Given the description of an element on the screen output the (x, y) to click on. 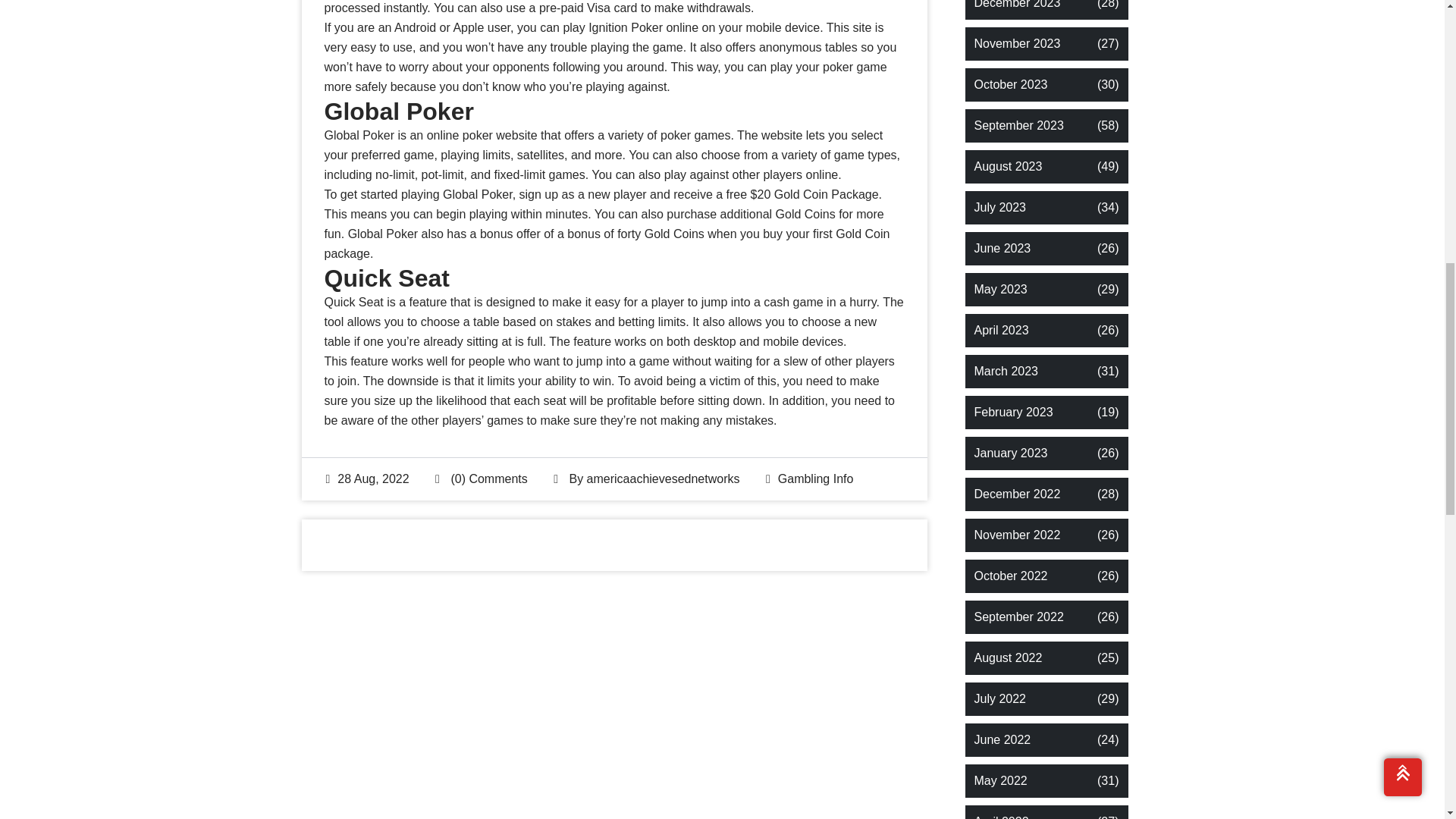
March 2023 (1006, 371)
June 2023 (1002, 248)
September 2023 (1018, 126)
July 2023 (1000, 208)
October 2023 (1010, 85)
November 2023 (1016, 44)
December 2022 (1016, 494)
Gambling Info (815, 478)
28 Aug, 2022 (367, 478)
May 2023 (1000, 289)
September 2022 (1018, 617)
August 2023 (1008, 167)
February 2023 (1013, 412)
December 2023 (1016, 6)
January 2023 (1010, 453)
